Given the description of an element on the screen output the (x, y) to click on. 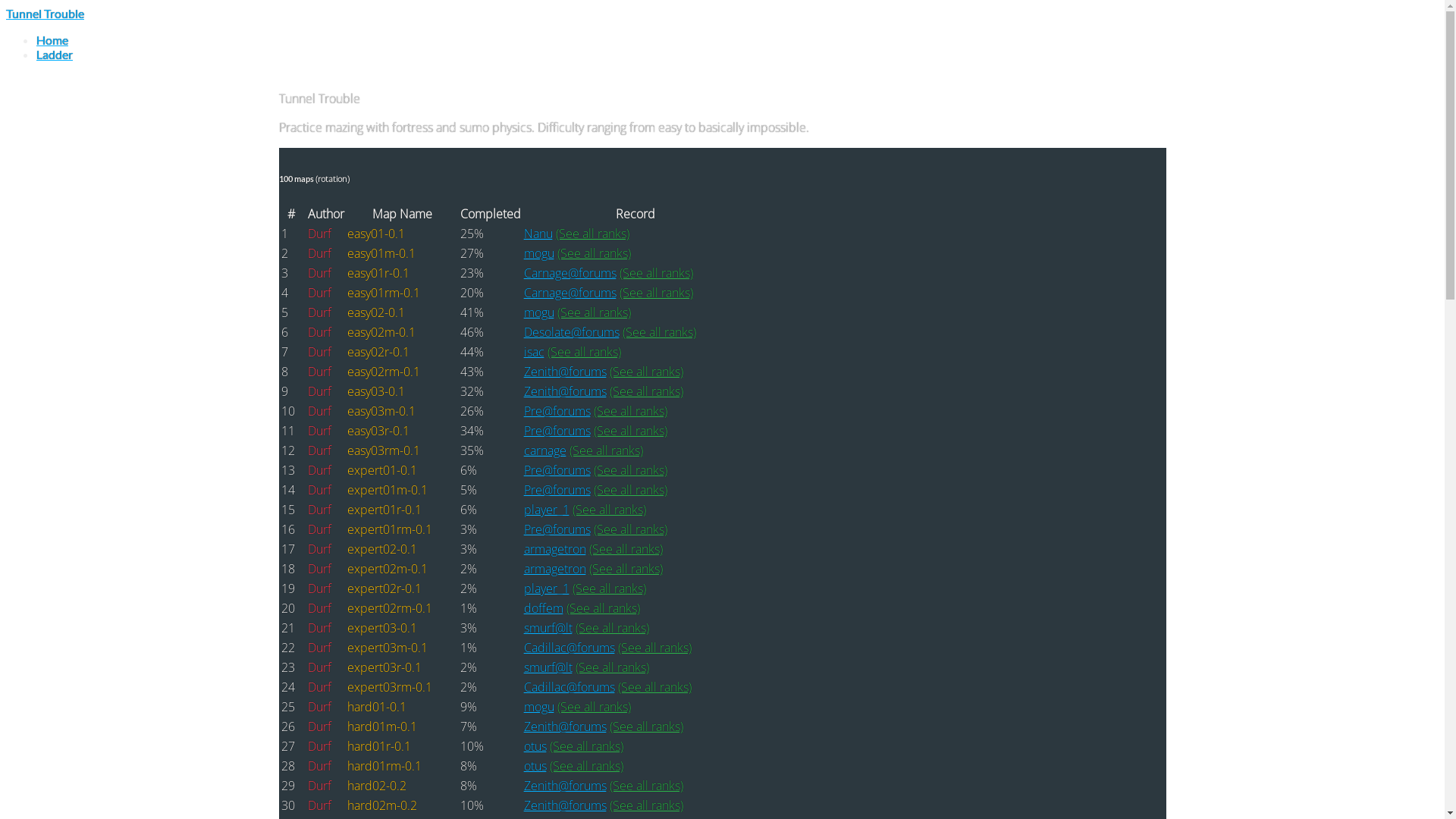
hard01r-0.1 Element type: text (379, 745)
expert01-0.1 Element type: text (382, 469)
Pre@forums Element type: text (556, 410)
Nanu Element type: text (537, 233)
(See all ranks) Element type: text (629, 469)
armagetron Element type: text (554, 548)
(See all ranks) Element type: text (611, 627)
easy01-0.1 Element type: text (375, 233)
Pre@forums Element type: text (556, 469)
isac Element type: text (533, 351)
easy03-0.1 Element type: text (375, 390)
Carnage@forums Element type: text (569, 272)
(See all ranks) Element type: text (629, 528)
easy03r-0.1 Element type: text (378, 430)
expert01rm-0.1 Element type: text (389, 528)
Zenith@forums Element type: text (564, 785)
smurf@lt Element type: text (547, 627)
Home Element type: text (52, 39)
(See all ranks) Element type: text (655, 292)
(See all ranks) Element type: text (653, 686)
(See all ranks) Element type: text (625, 568)
(See all ranks) Element type: text (646, 371)
(See all ranks) Element type: text (653, 647)
expert01m-0.1 Element type: text (387, 489)
otus Element type: text (534, 765)
doffem Element type: text (542, 607)
(See all ranks) Element type: text (625, 548)
(See all ranks) Element type: text (608, 588)
(See all ranks) Element type: text (584, 351)
(See all ranks) Element type: text (629, 430)
hard02-0.2 Element type: text (376, 785)
(See all ranks) Element type: text (585, 745)
expert02r-0.1 Element type: text (384, 588)
player_1 Element type: text (545, 509)
(See all ranks) Element type: text (646, 726)
easy02r-0.1 Element type: text (378, 351)
mogu Element type: text (538, 312)
otus Element type: text (534, 745)
Zenith@forums Element type: text (564, 371)
Ladder Element type: text (54, 54)
hard01m-0.1 Element type: text (382, 726)
expert03-0.1 Element type: text (382, 627)
hard02m-0.2 Element type: text (382, 805)
(See all ranks) Element type: text (593, 706)
mogu Element type: text (538, 252)
expert02m-0.1 Element type: text (387, 568)
easy01rm-0.1 Element type: text (383, 292)
carnage Element type: text (544, 450)
Pre@forums Element type: text (556, 489)
Zenith@forums Element type: text (564, 726)
(See all ranks) Element type: text (655, 272)
expert02rm-0.1 Element type: text (389, 607)
expert03m-0.1 Element type: text (387, 647)
Zenith@forums Element type: text (564, 805)
armagetron Element type: text (554, 568)
mogu Element type: text (538, 706)
(See all ranks) Element type: text (602, 607)
easy02m-0.1 Element type: text (381, 331)
Pre@forums Element type: text (556, 528)
player_1 Element type: text (545, 588)
(See all ranks) Element type: text (593, 312)
easy02rm-0.1 Element type: text (383, 371)
(See all ranks) Element type: text (611, 666)
easy02-0.1 Element type: text (375, 312)
Tunnel Trouble Element type: text (45, 13)
easy03rm-0.1 Element type: text (383, 450)
expert02-0.1 Element type: text (382, 548)
Carnage@forums Element type: text (569, 292)
(See all ranks) Element type: text (646, 805)
easy01r-0.1 Element type: text (378, 272)
hard01rm-0.1 Element type: text (384, 765)
(See all ranks) Element type: text (593, 252)
Cadillac@forums Element type: text (568, 647)
(See all ranks) Element type: text (658, 331)
Pre@forums Element type: text (556, 430)
(See all ranks) Element type: text (629, 489)
easy03m-0.1 Element type: text (381, 410)
expert03r-0.1 Element type: text (384, 666)
smurf@lt Element type: text (547, 666)
hard01-0.1 Element type: text (376, 706)
(See all ranks) Element type: text (591, 233)
(See all ranks) Element type: text (629, 410)
(See all ranks) Element type: text (646, 785)
expert01r-0.1 Element type: text (384, 509)
(See all ranks) Element type: text (608, 509)
(See all ranks) Element type: text (585, 765)
(See all ranks) Element type: text (646, 390)
easy01m-0.1 Element type: text (381, 252)
Desolate@forums Element type: text (570, 331)
expert03rm-0.1 Element type: text (389, 686)
Zenith@forums Element type: text (564, 390)
Cadillac@forums Element type: text (568, 686)
(See all ranks) Element type: text (605, 450)
